Given the description of an element on the screen output the (x, y) to click on. 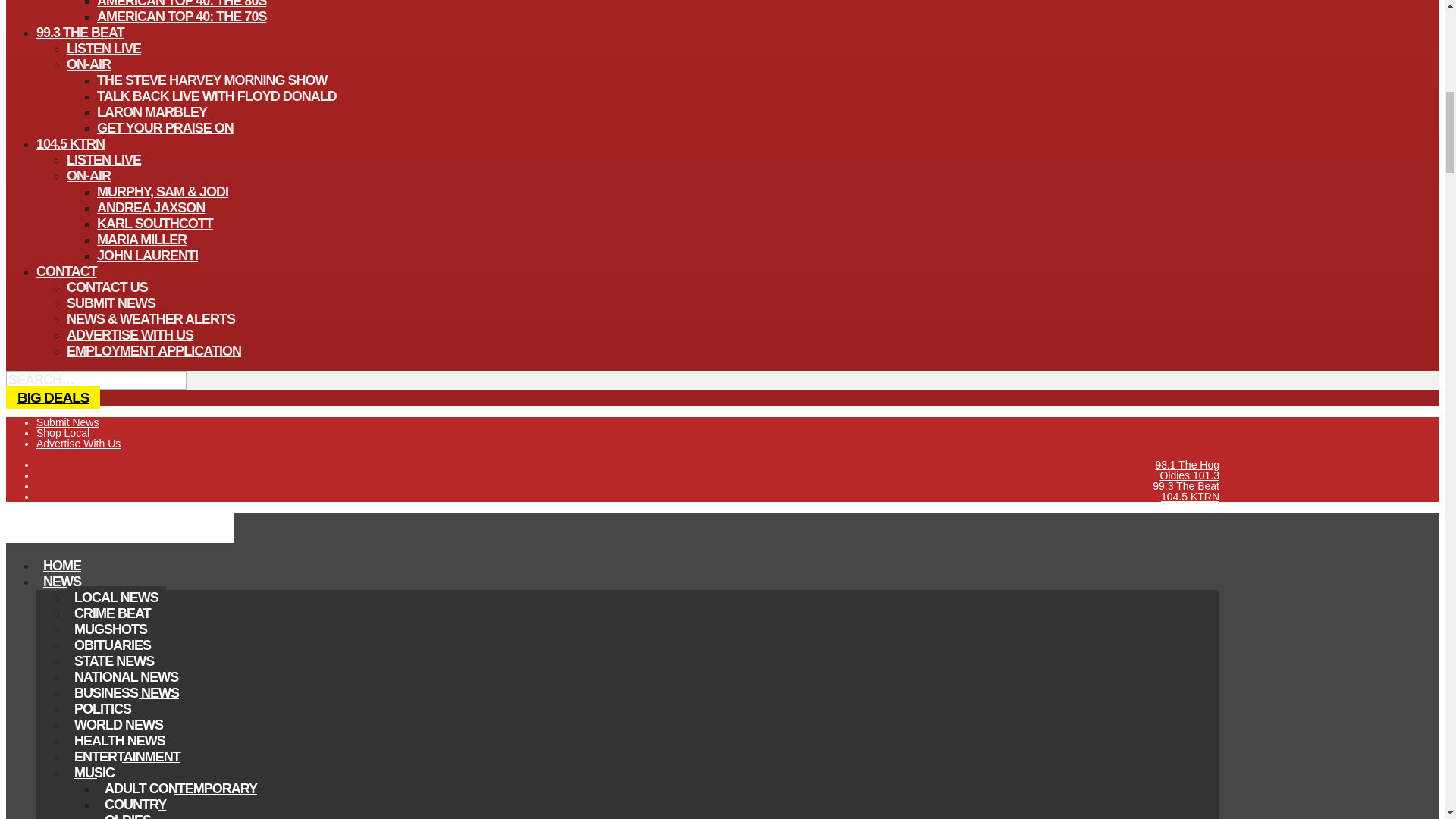
Deltaplex News (119, 538)
